Given the description of an element on the screen output the (x, y) to click on. 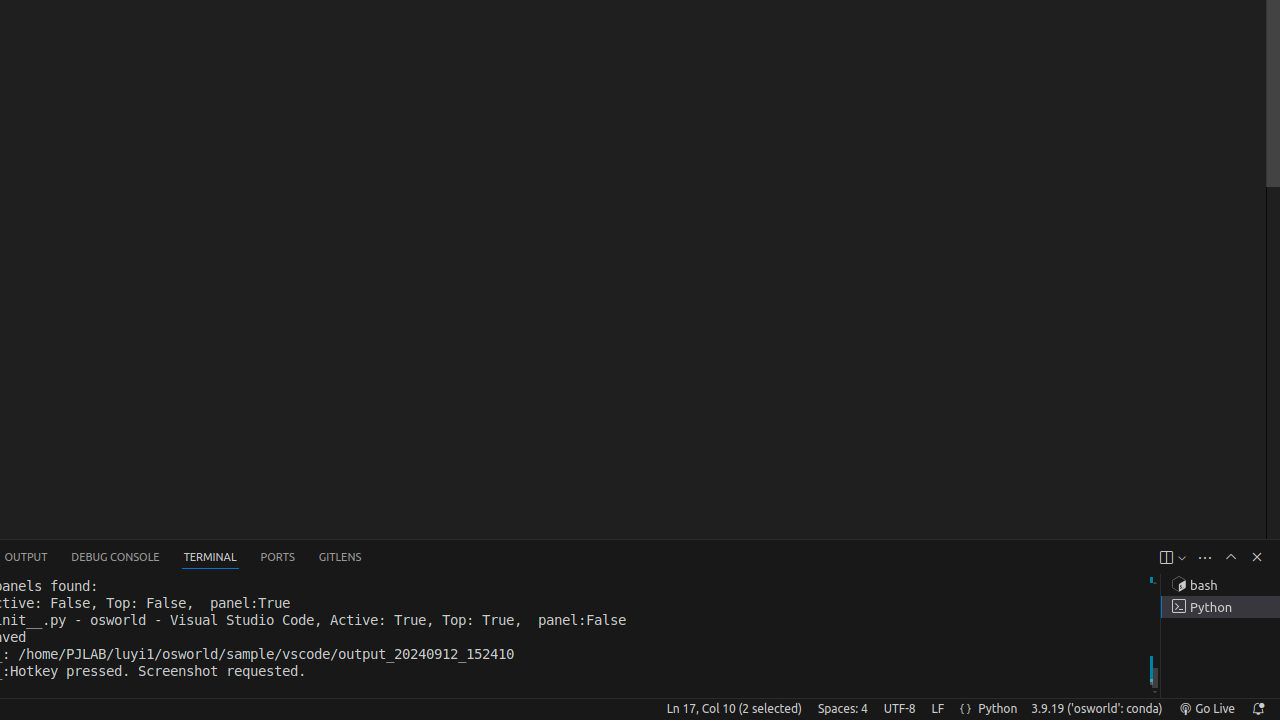
Maximize Panel Size Element type: check-box (1231, 557)
Ports Element type: page-tab (277, 557)
3.9.19 ('osworld': conda), ~/anaconda3/envs/osworld/bin/python Element type: push-button (1097, 709)
Ln 17, Col 10 (2 selected) Element type: push-button (734, 709)
Terminal (Ctrl+`) Element type: page-tab (210, 557)
